Given the description of an element on the screen output the (x, y) to click on. 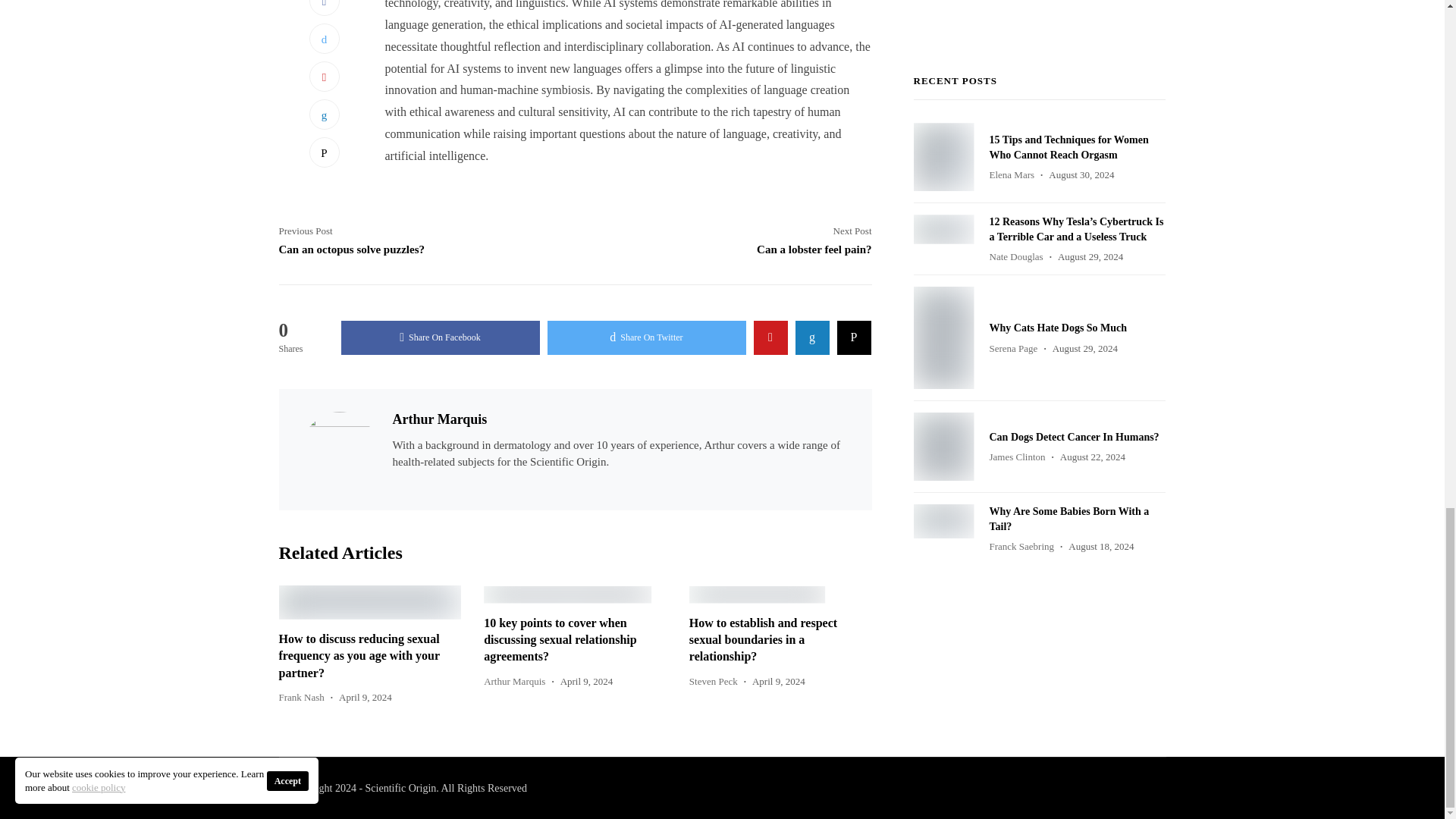
Posts by Steven Peck (713, 681)
Posts by Frank Nash (301, 696)
Posts by Arthur Marquis (513, 681)
